Given the description of an element on the screen output the (x, y) to click on. 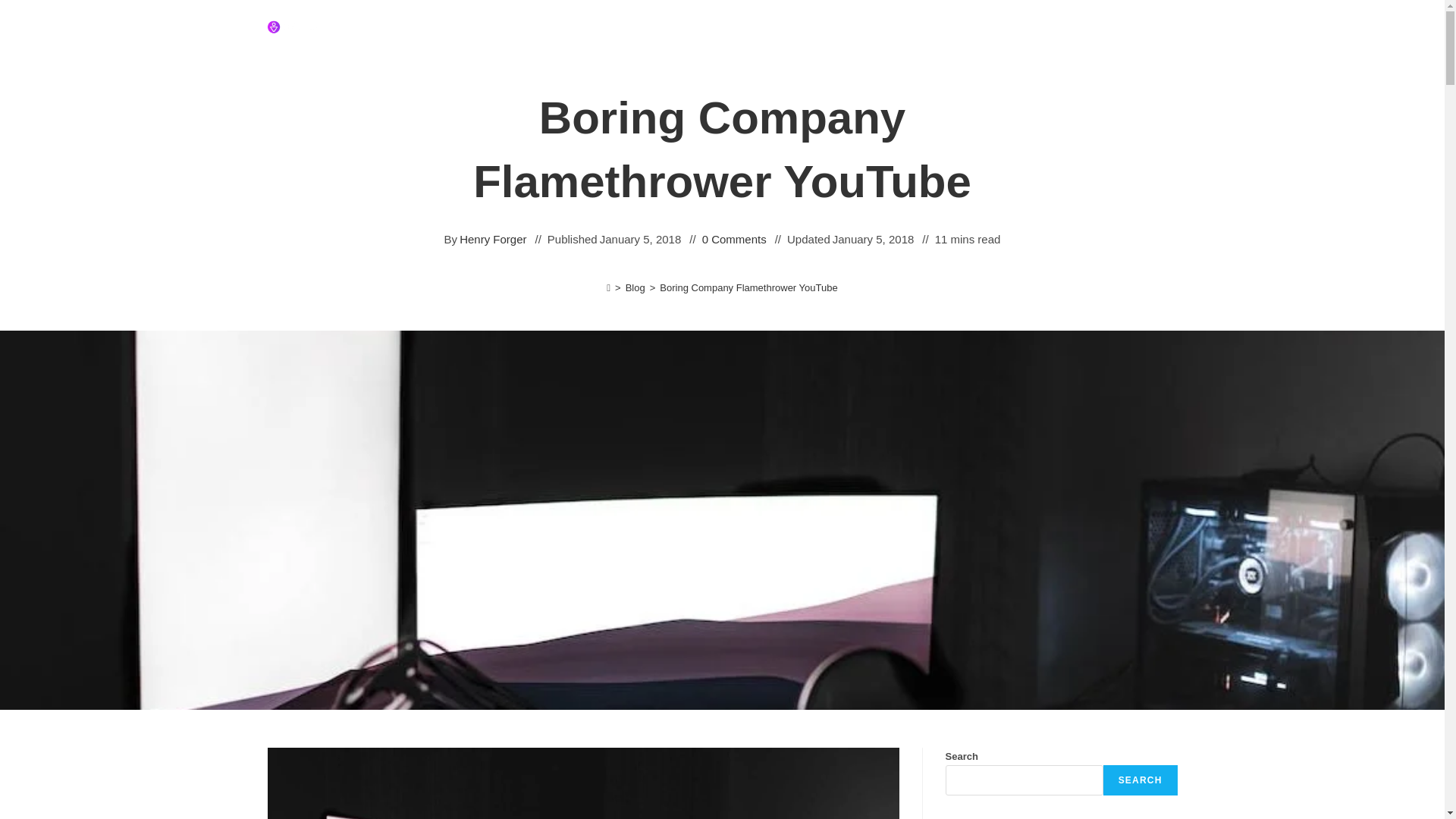
0 Comments (734, 239)
Blog (635, 287)
Henry Forger (492, 239)
Boring Company Flamethrower YouTube (748, 287)
